Given the description of an element on the screen output the (x, y) to click on. 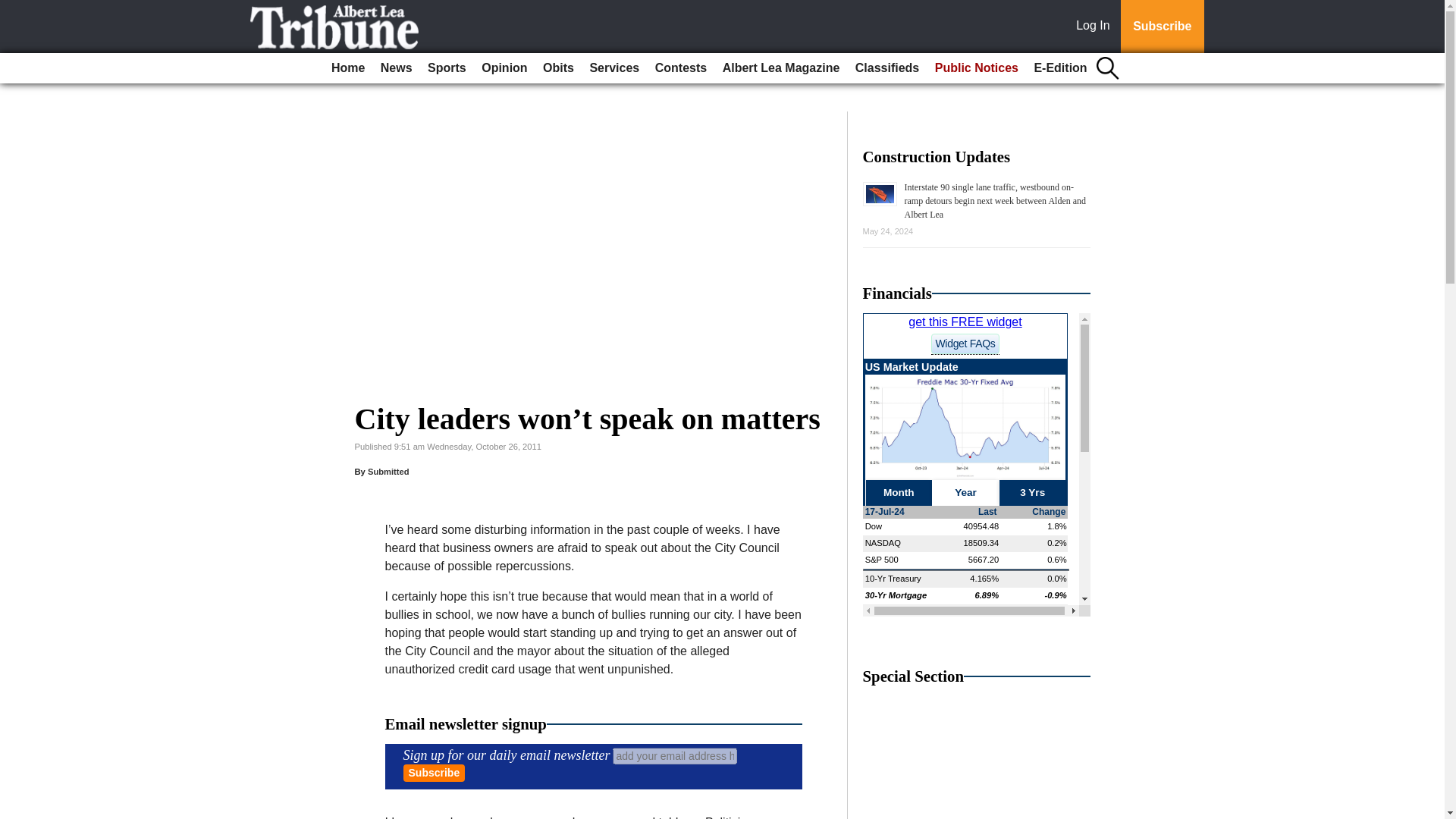
Home (347, 68)
Obits (558, 68)
Services (614, 68)
Subscribe (434, 773)
Subscribe (1162, 26)
Opinion (504, 68)
News (396, 68)
Sports (446, 68)
Log In (1095, 26)
